Given the description of an element on the screen output the (x, y) to click on. 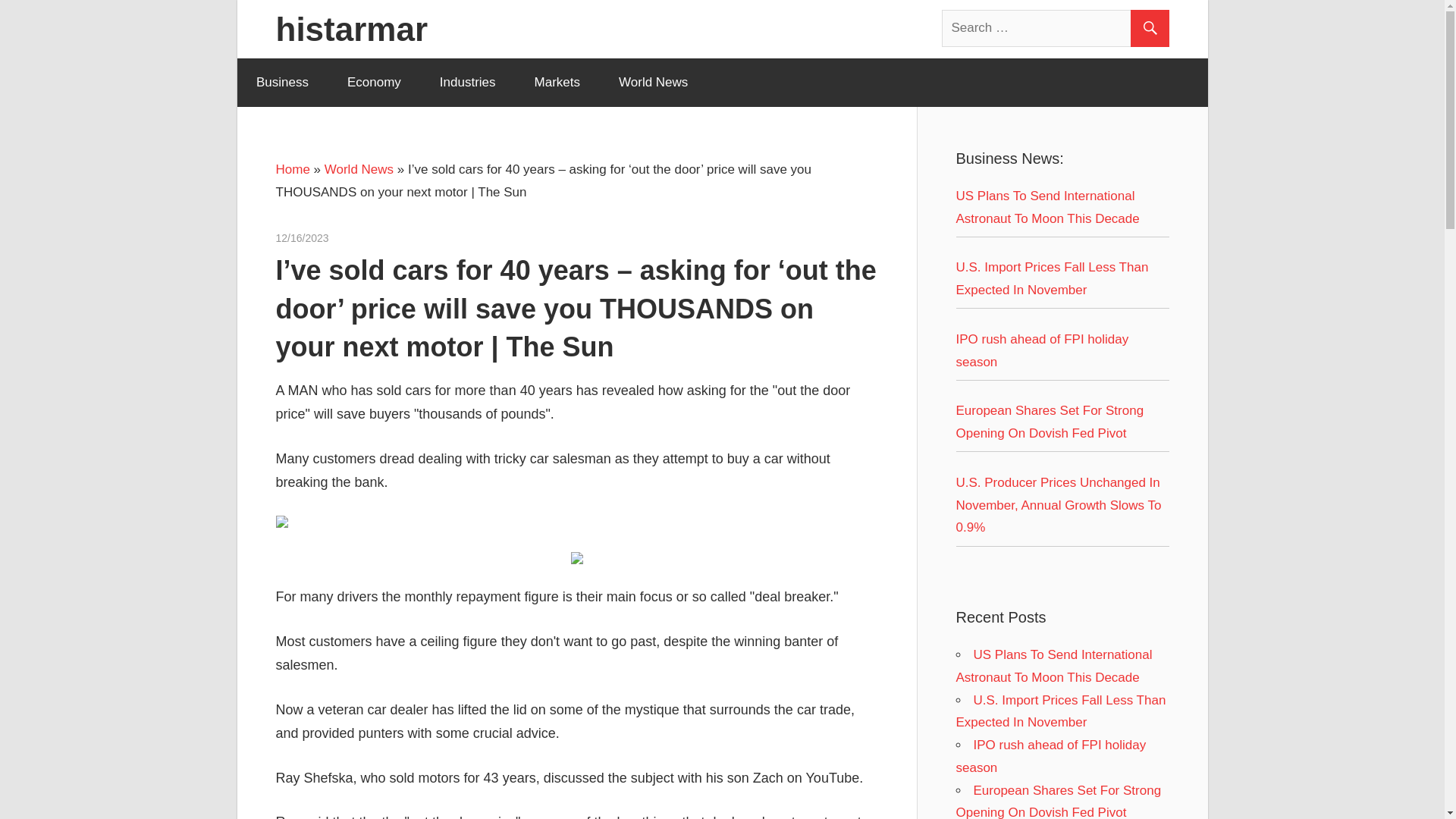
Search for: (1055, 27)
U.S. Import Prices Fall Less Than Expected In November (1051, 278)
European Shares Set For Strong Opening On Dovish Fed Pivot (1048, 421)
US Plans To Send International Astronaut To Moon This Decade (1046, 207)
Home (293, 169)
Industries (467, 82)
IPO rush ahead of FPI holiday season (1050, 755)
15:39 (302, 237)
Economy (373, 82)
Business (281, 82)
